Given the description of an element on the screen output the (x, y) to click on. 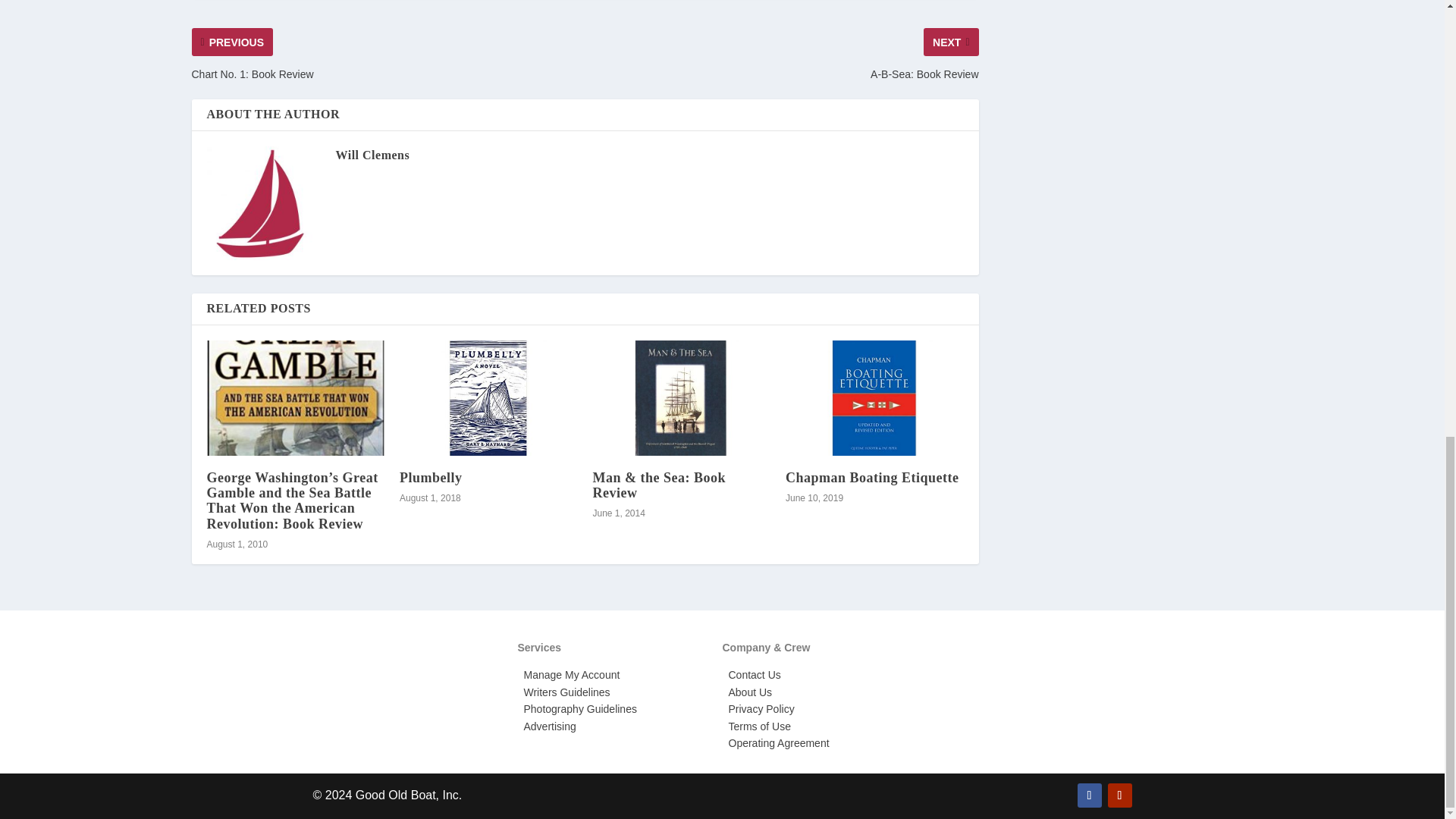
Follow on Facebook (1088, 794)
Plumbelly (488, 397)
View all posts by Will Clemens (371, 154)
Chapman Boating Etiquette (874, 397)
